Given the description of an element on the screen output the (x, y) to click on. 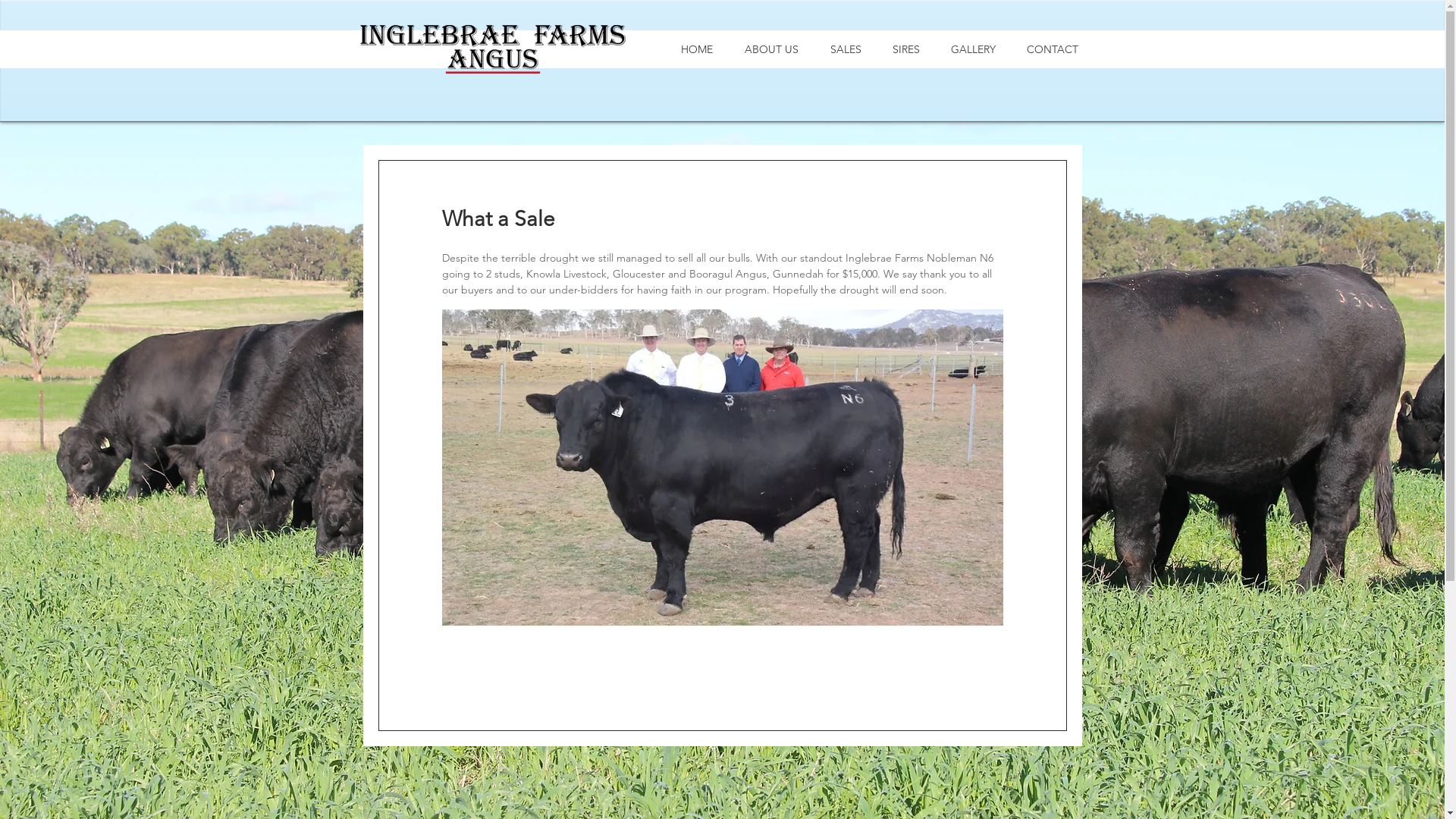
SALES Element type: text (845, 49)
SIRES Element type: text (905, 49)
HOME Element type: text (696, 49)
CONTACT Element type: text (1052, 49)
ABOUT US Element type: text (770, 49)
GALLERY Element type: text (973, 49)
